Given the description of an element on the screen output the (x, y) to click on. 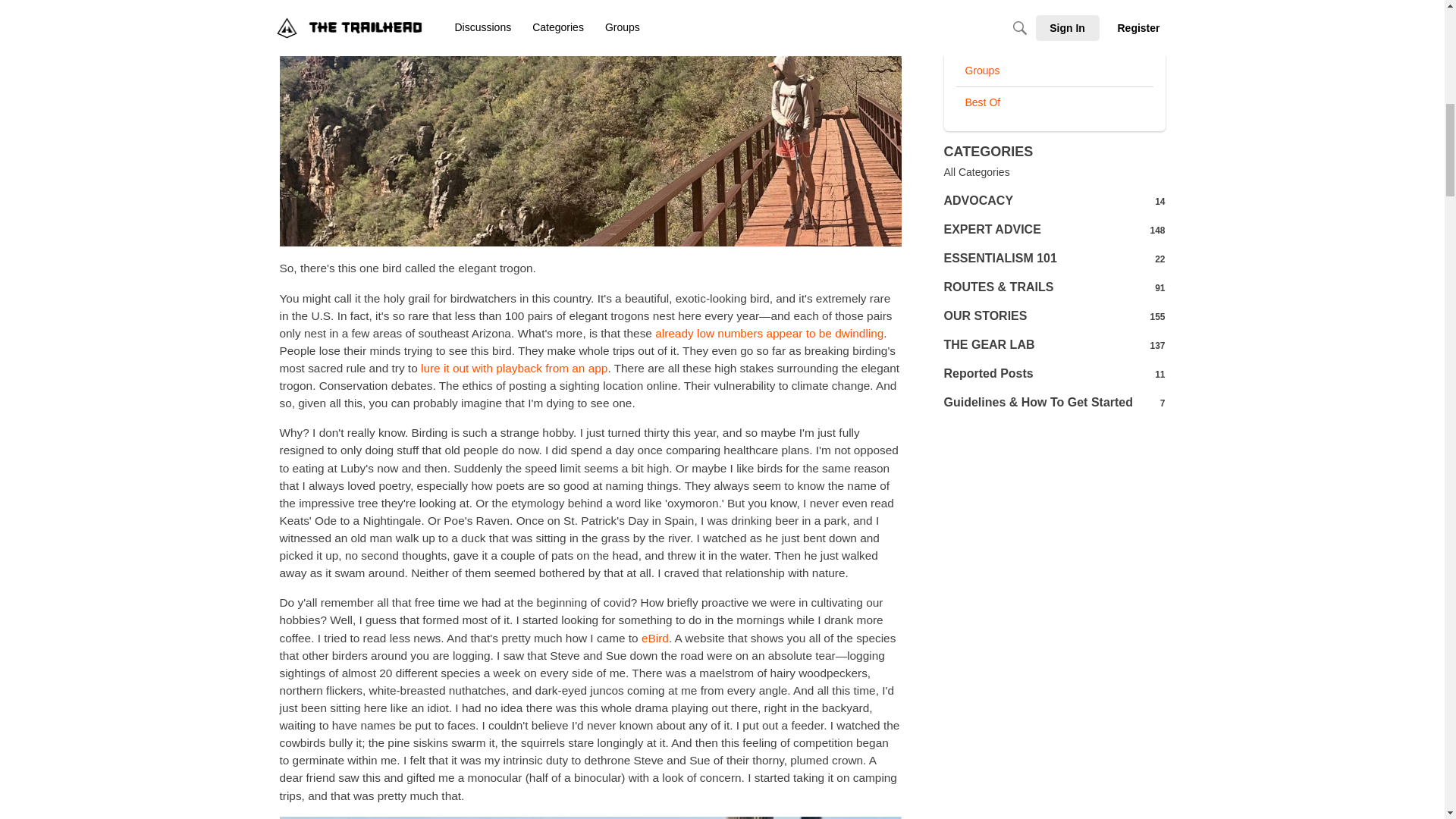
Activity (1054, 38)
eBird (1054, 11)
155 discussions (655, 637)
14 discussions (1157, 317)
148 discussions (1159, 201)
11 discussions (1157, 230)
All Categories (1159, 374)
Best Of (1053, 172)
91 discussions (1054, 102)
Groups (1159, 287)
137 discussions (1054, 70)
already low numbers appear to be dwindling (1157, 345)
22 discussions (769, 332)
lure it out with playback from an app (1159, 258)
